Given the description of an element on the screen output the (x, y) to click on. 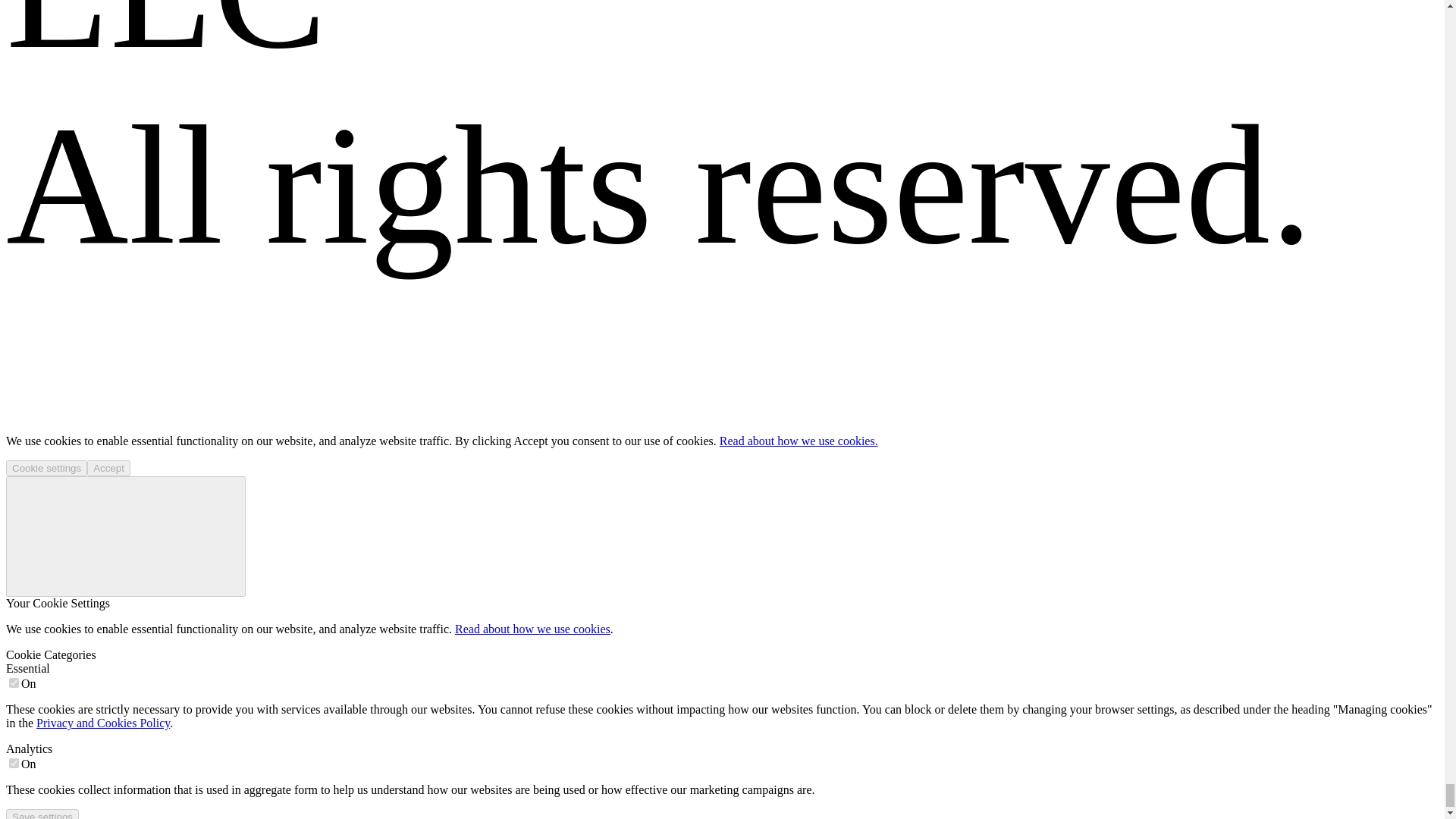
on (13, 682)
Read about how we use cookies. (798, 440)
Read about how we use cookies (532, 628)
Cookie settings (46, 467)
Accept (109, 467)
Privacy and Cookies Policy (103, 722)
on (13, 763)
